Given the description of an element on the screen output the (x, y) to click on. 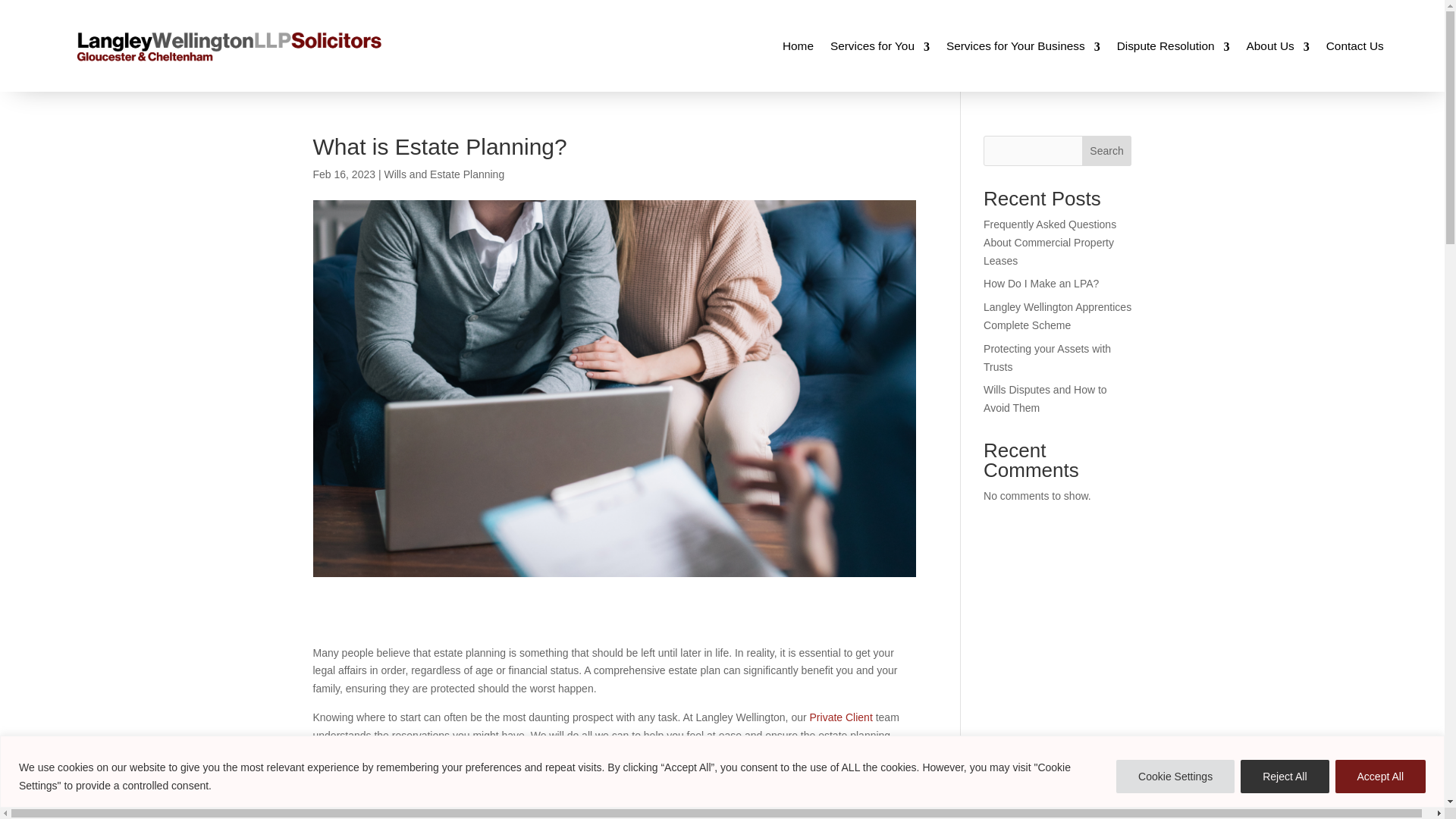
Reject All (1283, 776)
Services for You (879, 45)
Cookie Settings (1175, 776)
Accept All (1380, 776)
